Given the description of an element on the screen output the (x, y) to click on. 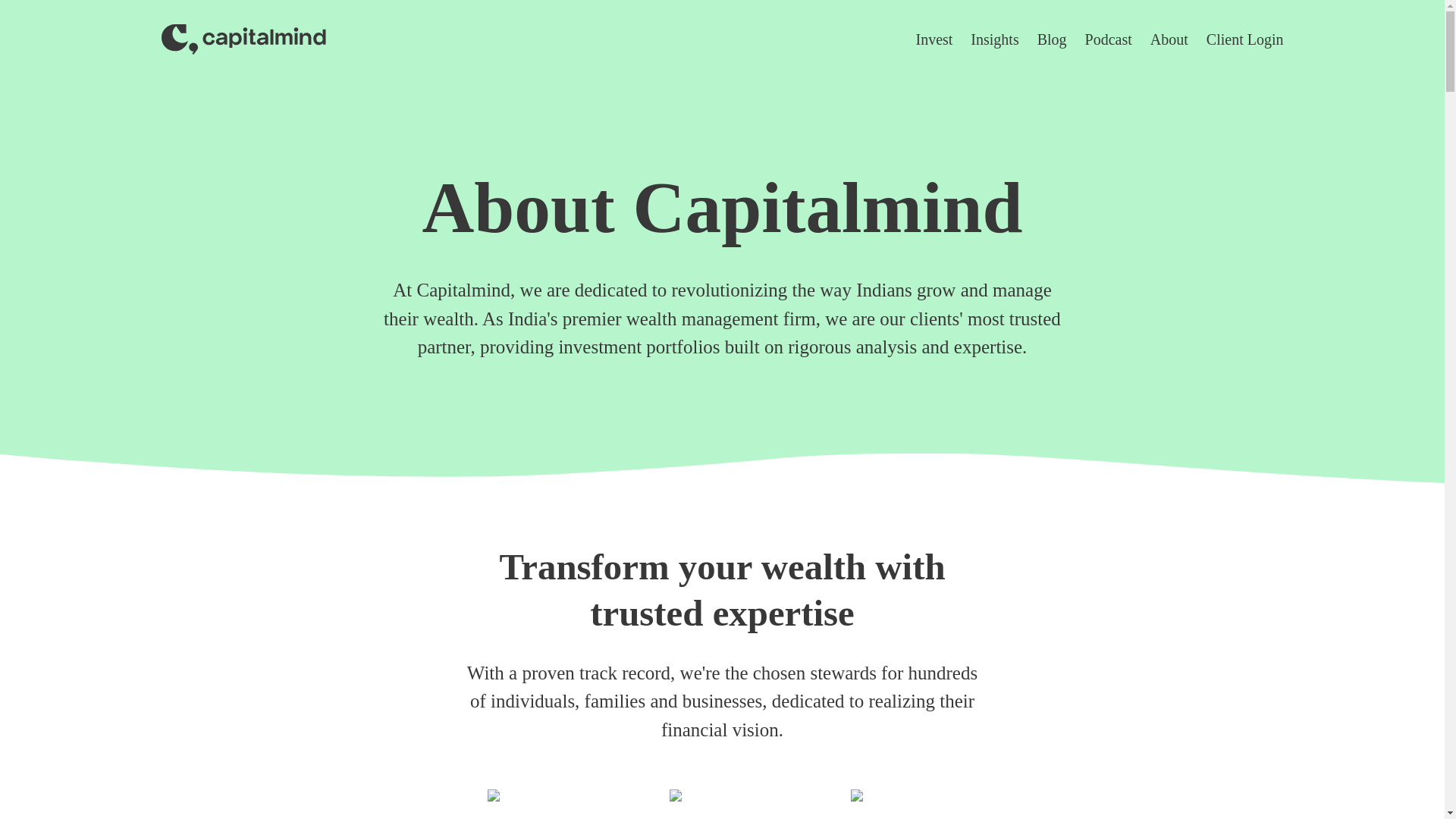
About (1169, 38)
Insights (994, 38)
Podcast (1108, 38)
Invest (933, 38)
Blog (1051, 38)
Client Login (1245, 38)
